Given the description of an element on the screen output the (x, y) to click on. 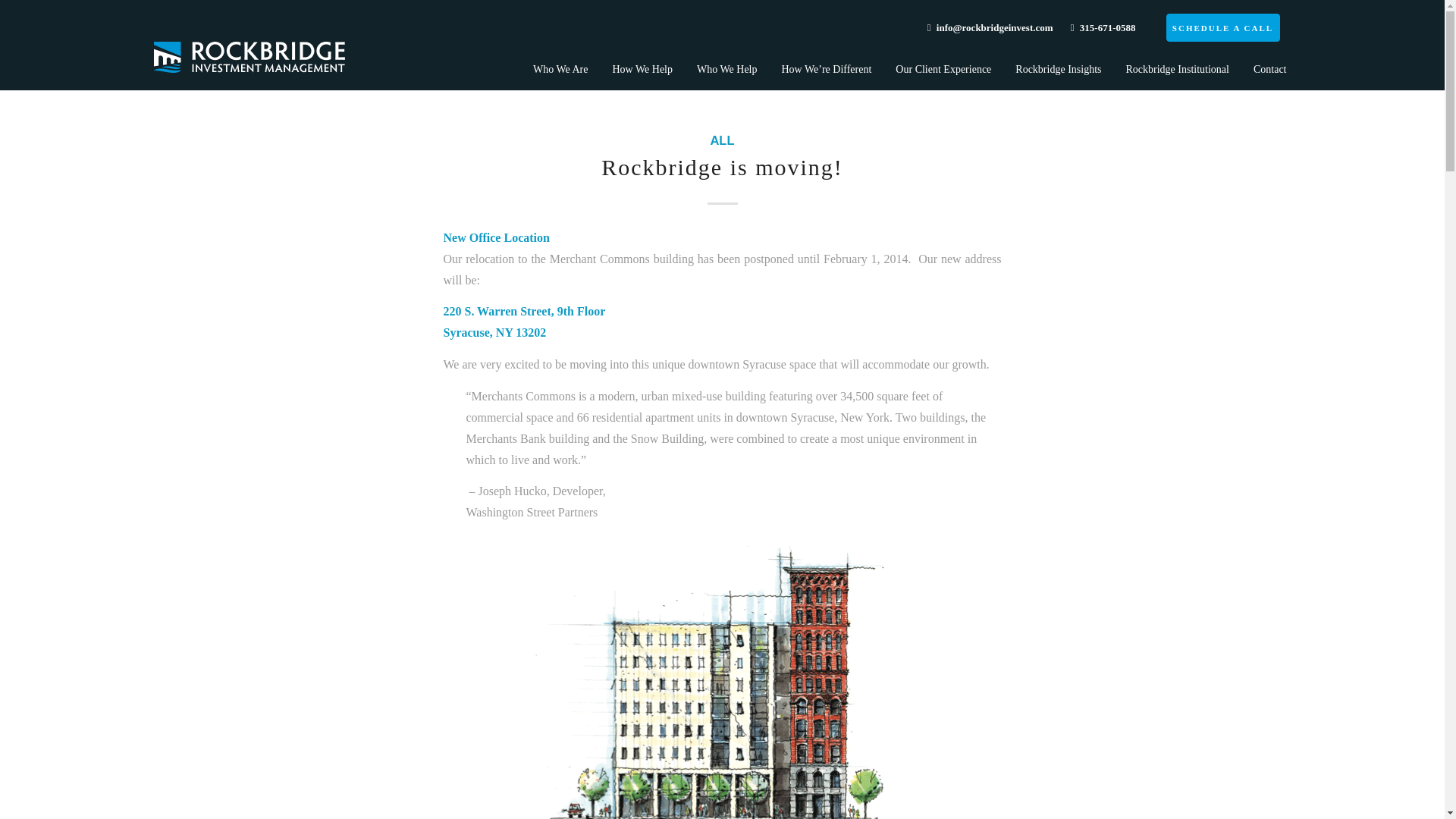
Rockbridge Institutional (1176, 69)
Who We Help (726, 69)
SCHEDULE A CALL (1222, 27)
Permanent Link: Rockbridge Is Moving! (722, 166)
rockbridge is moving! (722, 166)
Who We Are (560, 69)
Rockbridge Insights (1058, 69)
315-671-0588 (1102, 27)
How We Help (642, 69)
ALL (721, 140)
